Given the description of an element on the screen output the (x, y) to click on. 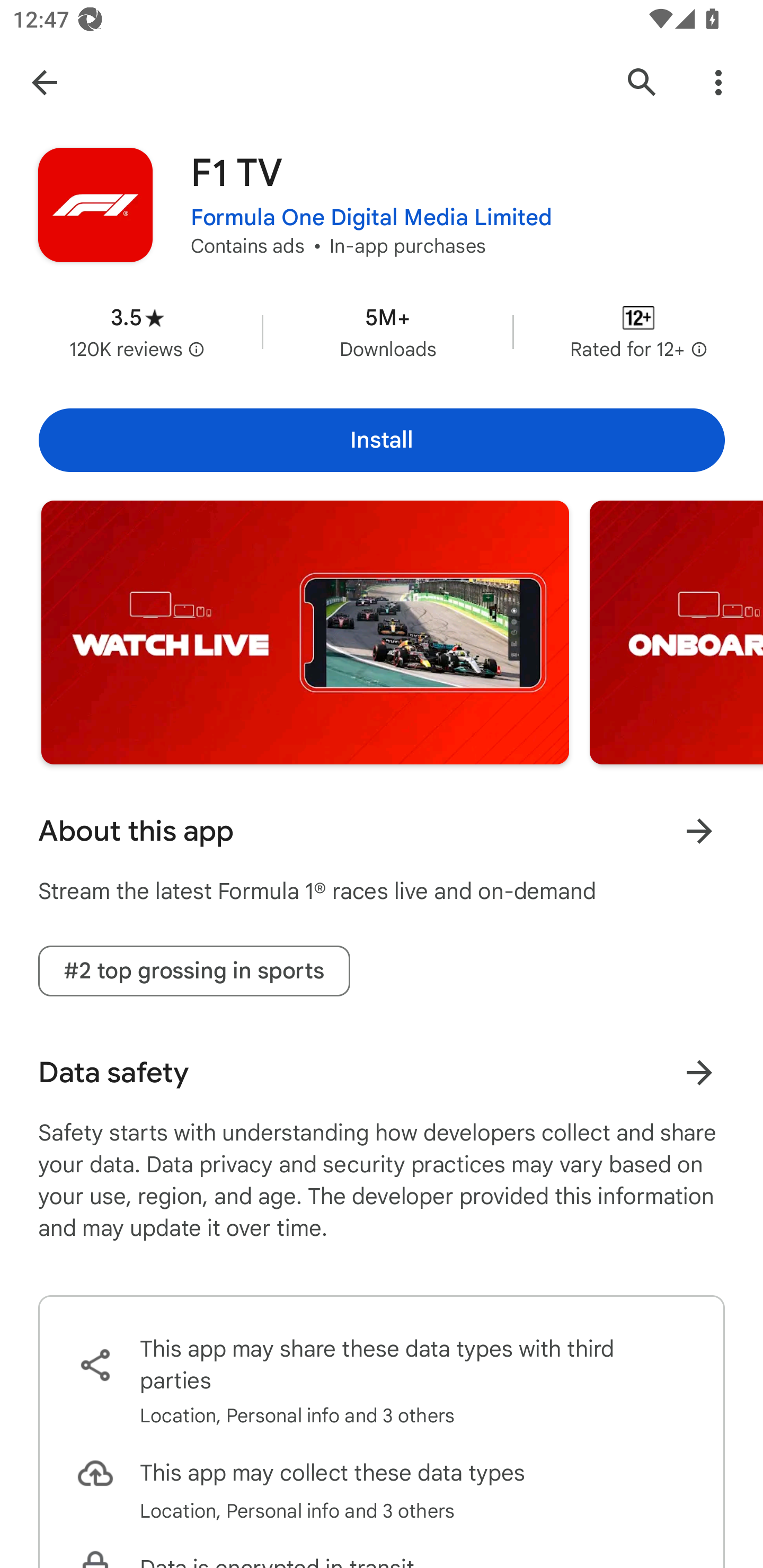
Navigate up (44, 81)
Search Google Play (642, 81)
More Options (718, 81)
Formula One Digital Media Limited (371, 217)
Average rating 3.5 stars in 120 thousand reviews (137, 331)
Content rating Rated for 12+ (638, 331)
Install (381, 439)
Screenshot "1" of "5" (305, 632)
About this app Learn more About this app (381, 830)
Learn more About this app (699, 830)
#2 top grossing in sports tag (194, 970)
Data safety Learn more about data safety (381, 1072)
Learn more about data safety (699, 1072)
